Given the description of an element on the screen output the (x, y) to click on. 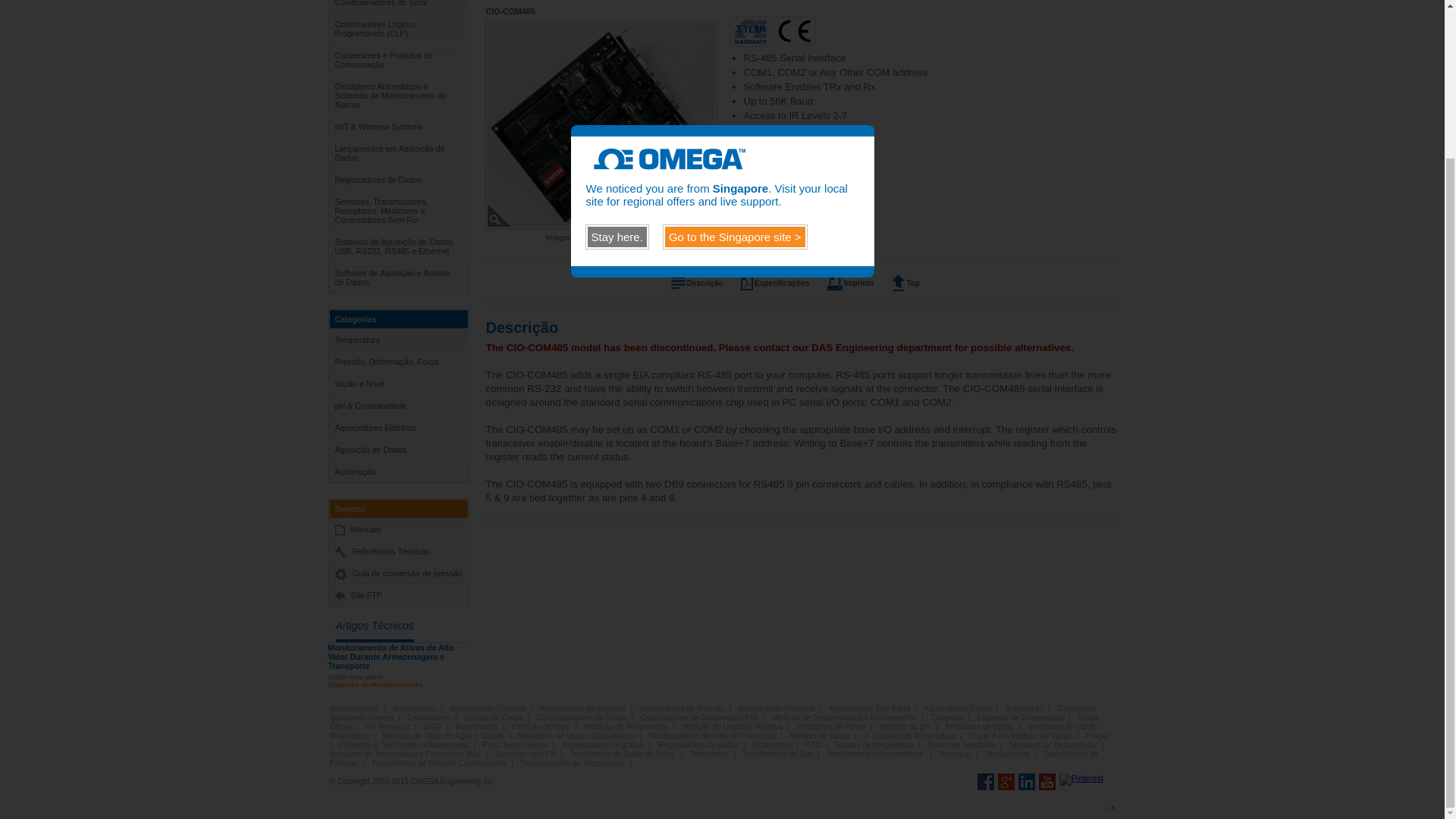
Registradores de Dados (398, 179)
Condicionadores de Sinal (398, 6)
